Given the description of an element on the screen output the (x, y) to click on. 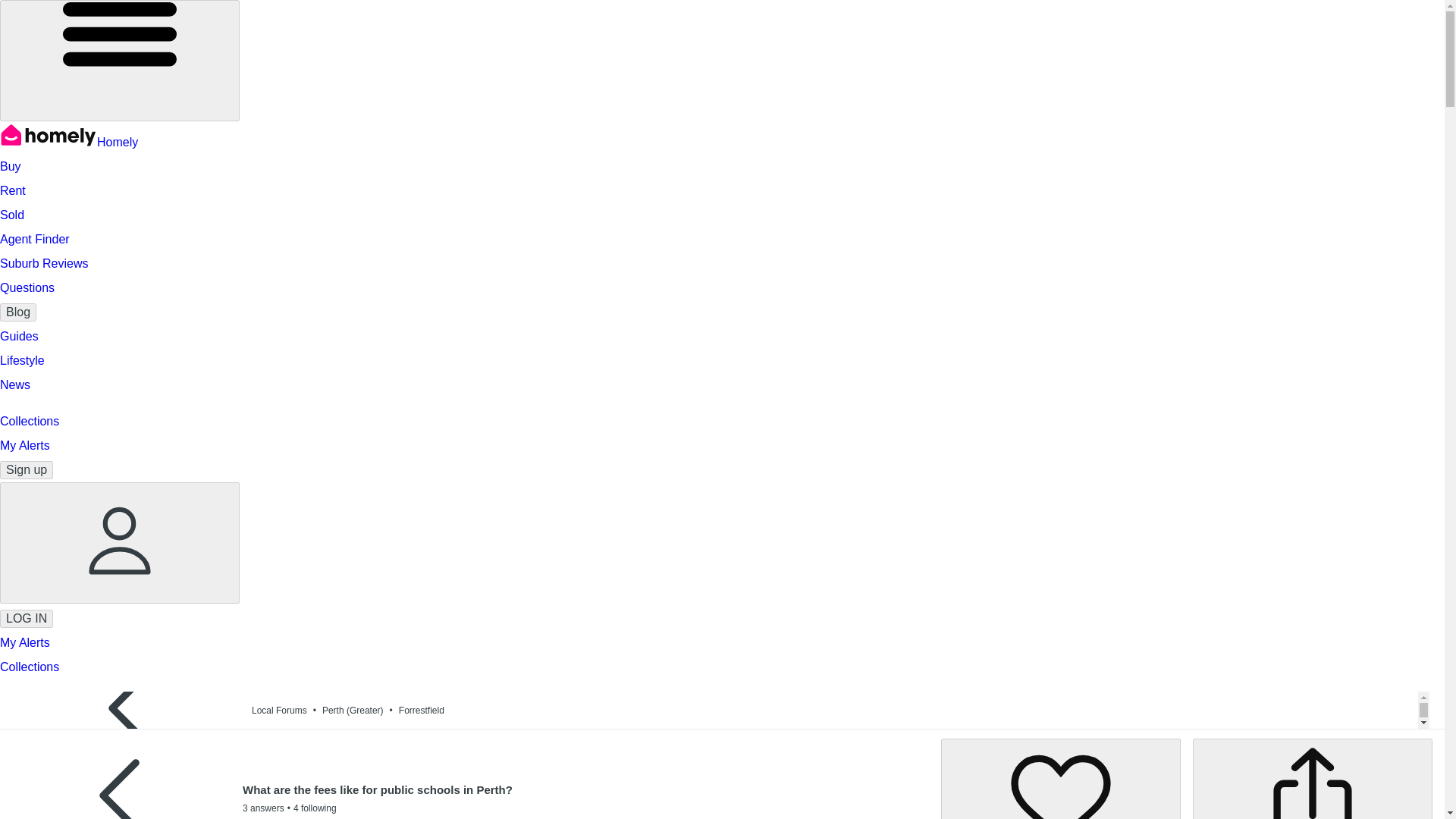
Rent (13, 190)
Blog (18, 312)
Collections (29, 420)
Log in (26, 618)
Buy (10, 165)
Questions (27, 287)
My Alerts (24, 642)
My Alerts (24, 445)
News (15, 384)
Rent (13, 190)
